Given the description of an element on the screen output the (x, y) to click on. 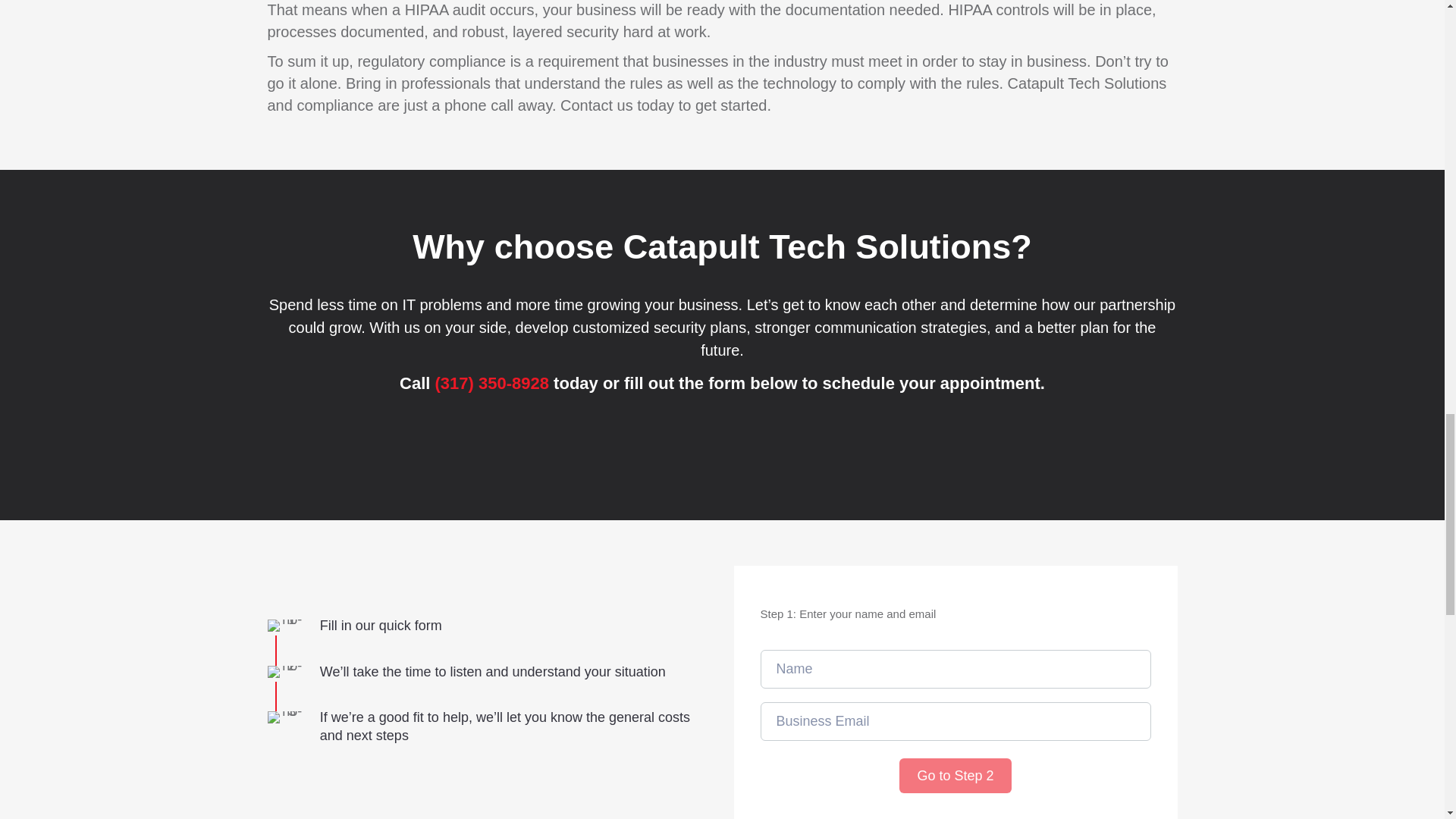
no-1 (285, 625)
Go to Step 2 (954, 775)
no-2 (285, 671)
no-3 (285, 717)
